Given the description of an element on the screen output the (x, y) to click on. 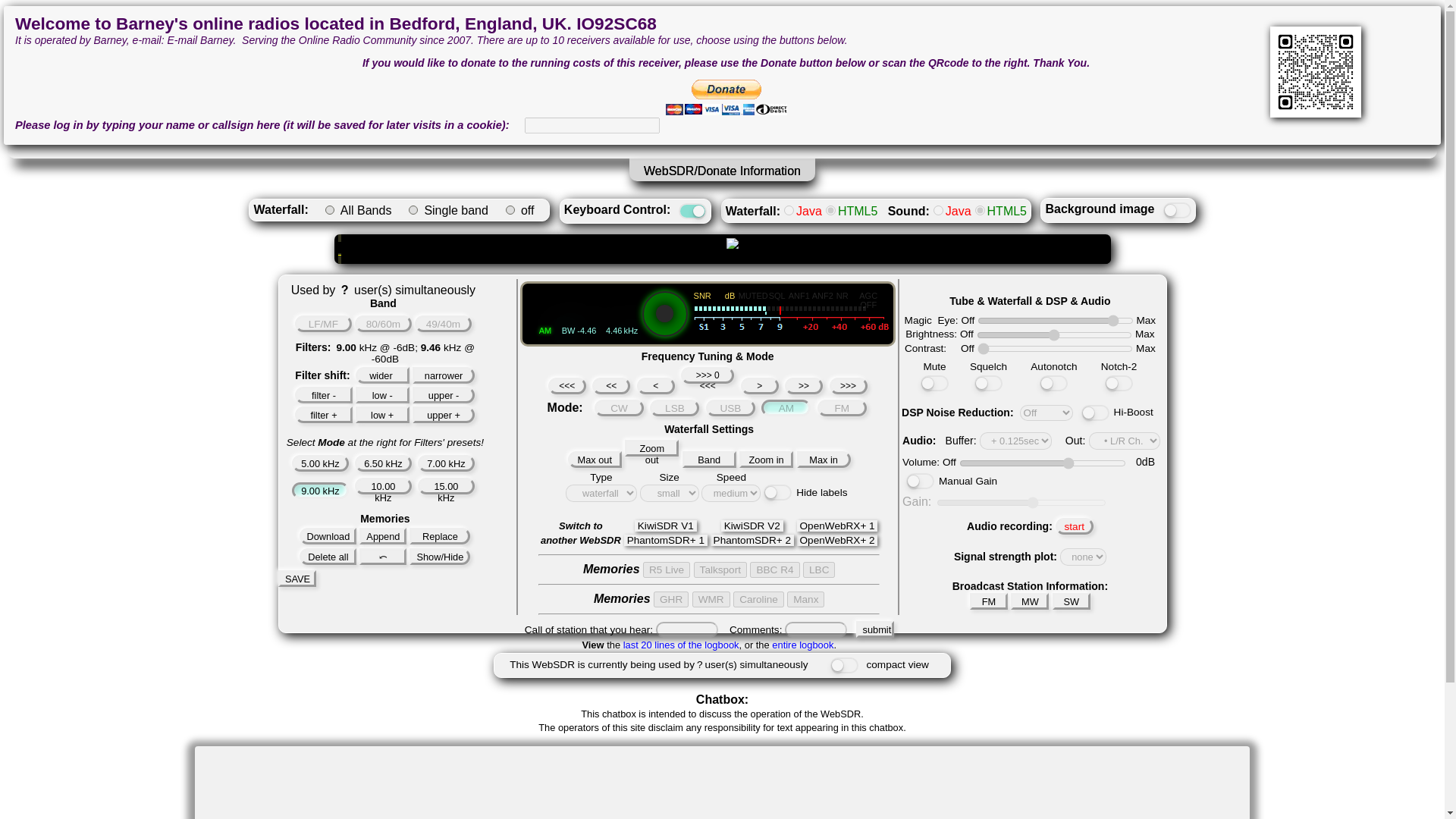
9.00 kHz (320, 490)
filter - (323, 394)
IO92SC68 (616, 23)
Append (382, 535)
PayPal - The safer, easier way to pay online! (726, 97)
10.00 kHz (383, 485)
Delete all (327, 556)
Download (327, 535)
Java (938, 210)
upper - (444, 394)
5.00 kHz (320, 463)
HTML5 (980, 210)
Replace (439, 535)
